Given the description of an element on the screen output the (x, y) to click on. 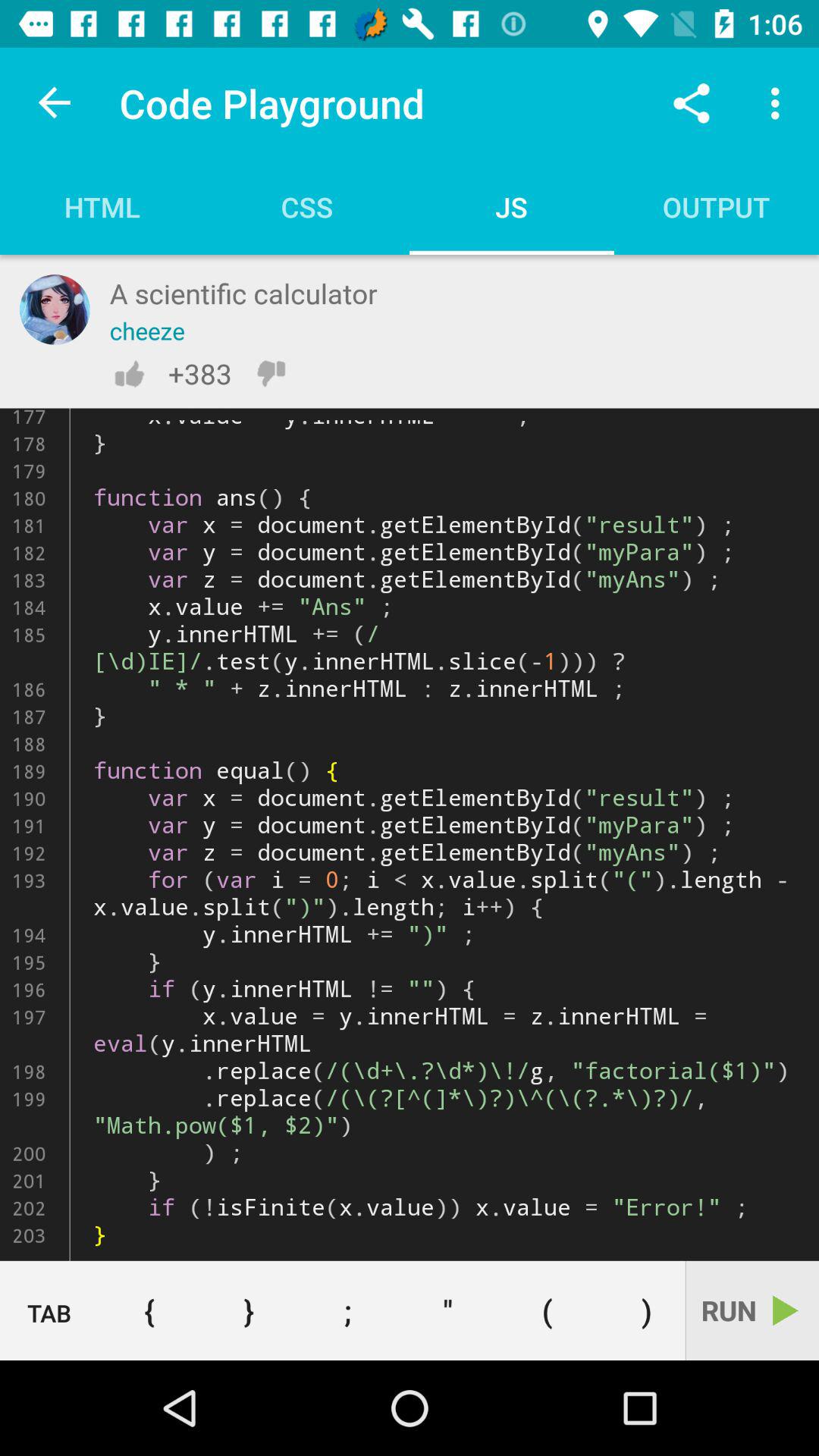
launch the item below function shiftfn ken (447, 1310)
